Given the description of an element on the screen output the (x, y) to click on. 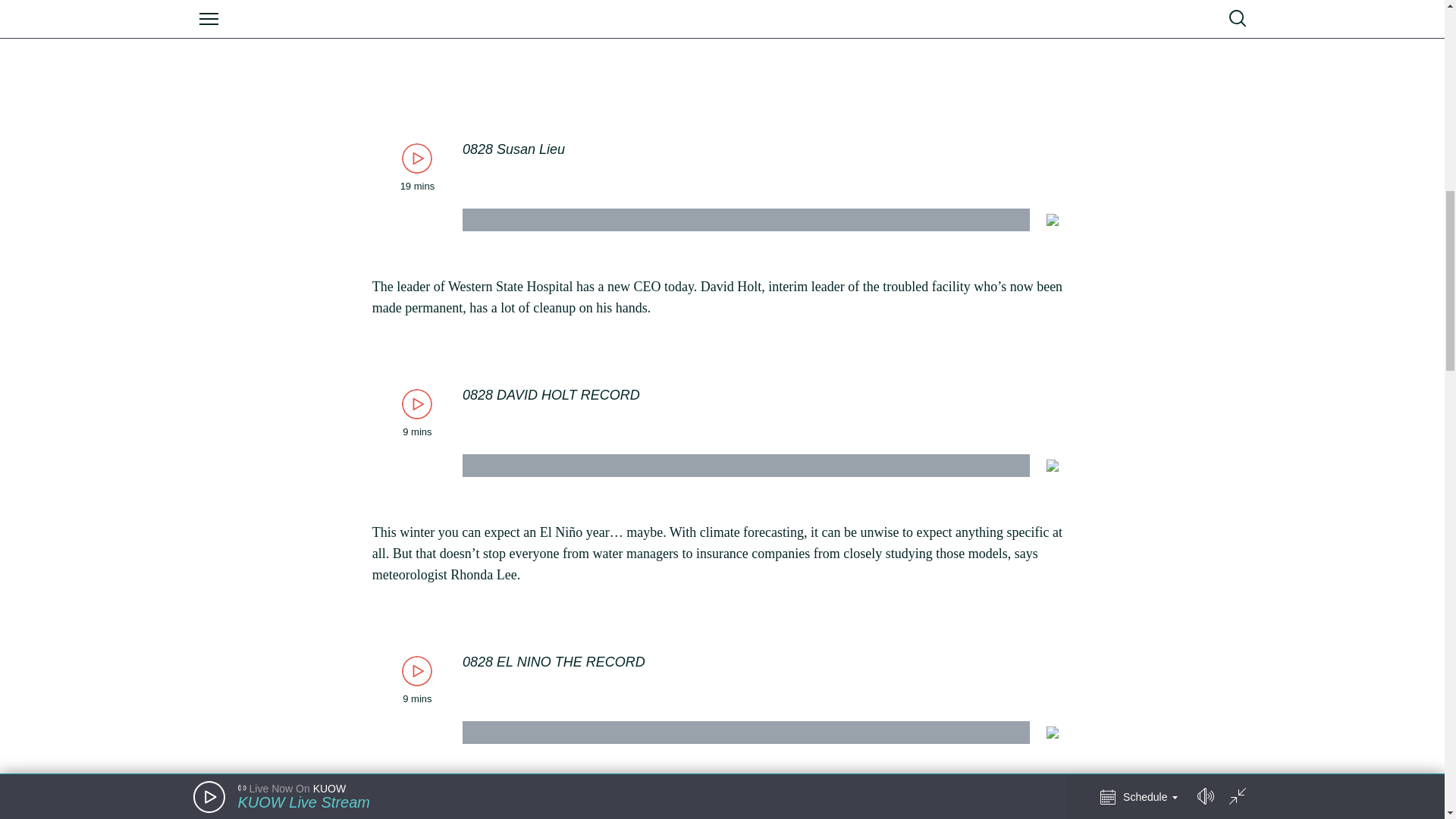
Play Audio (1358, 113)
